Given the description of an element on the screen output the (x, y) to click on. 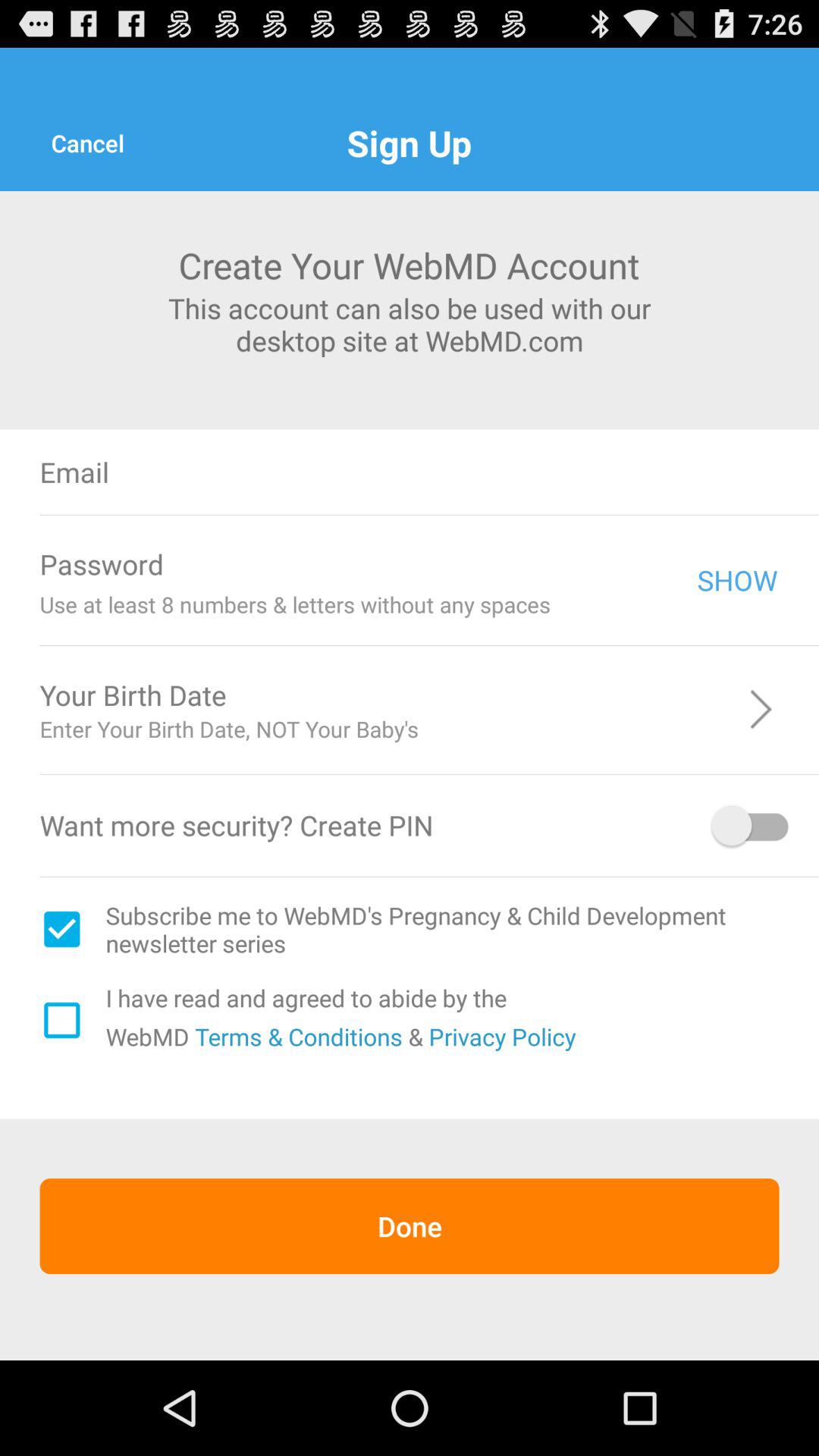
enter email (507, 471)
